Given the description of an element on the screen output the (x, y) to click on. 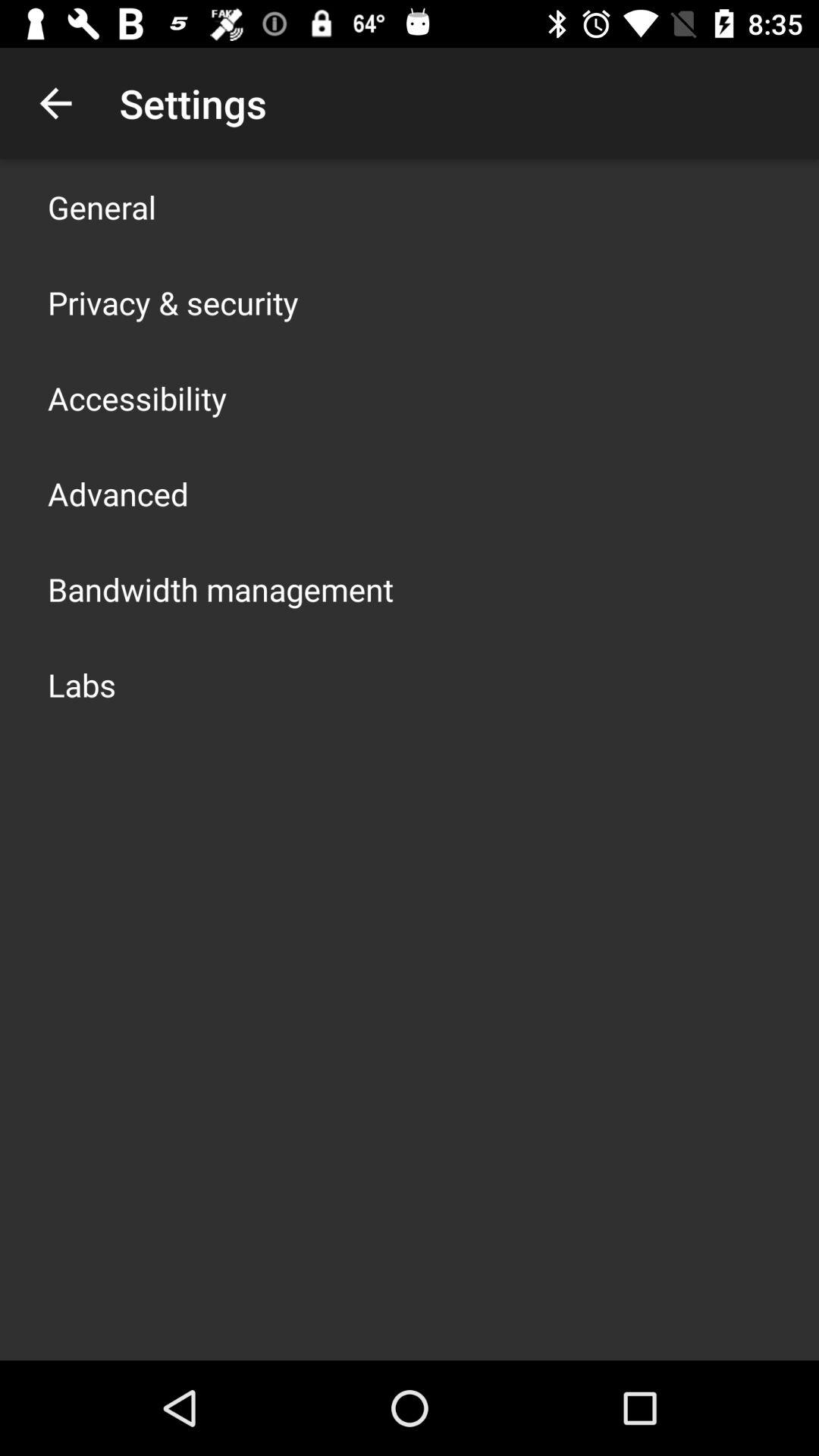
turn on the icon below the privacy & security app (136, 397)
